Given the description of an element on the screen output the (x, y) to click on. 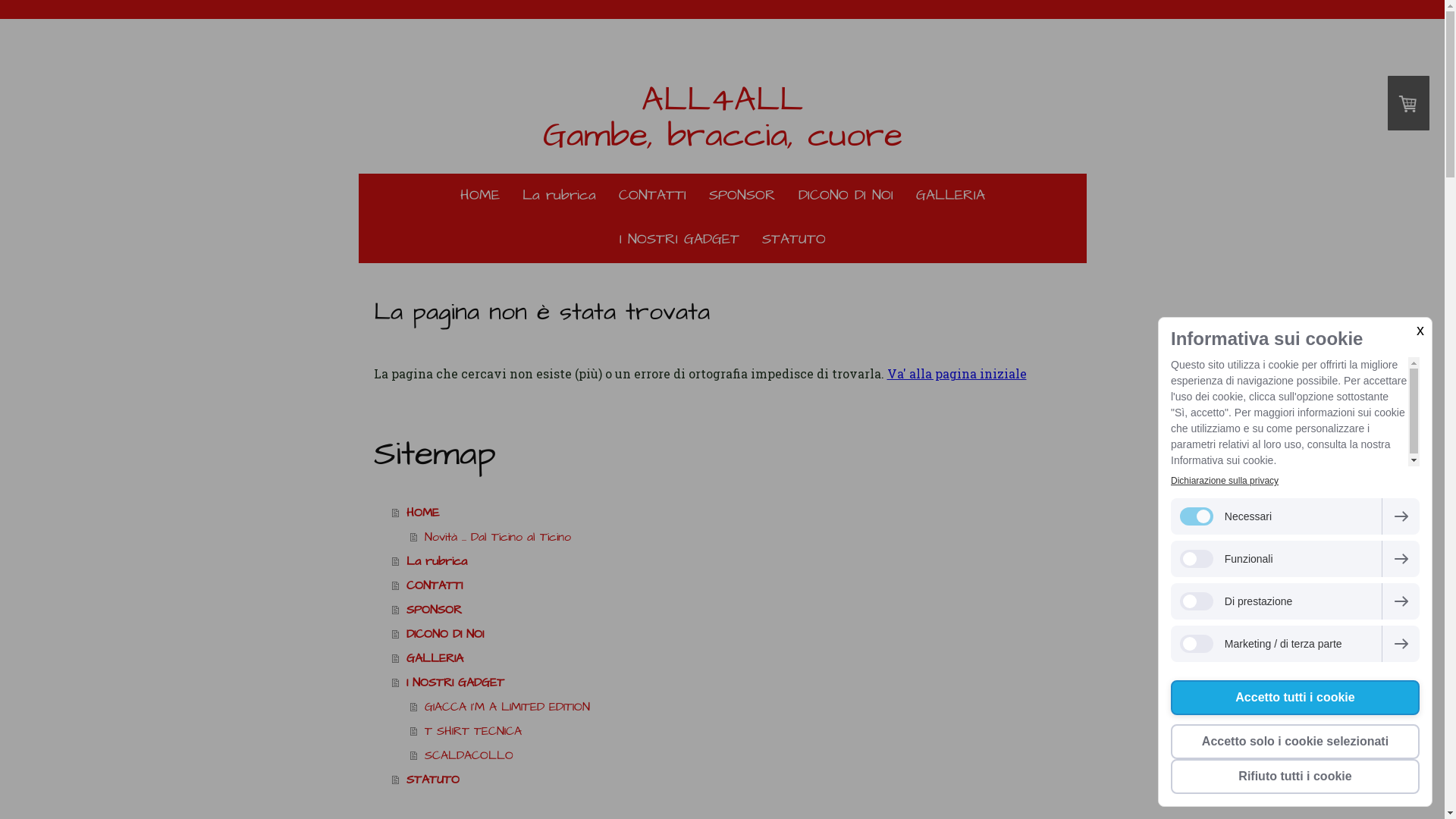
Accetto tutti i cookie Element type: text (1294, 697)
CONTATTI Element type: text (651, 194)
La rubrica Element type: text (559, 194)
Dichiarazione sulla privacy Element type: text (1224, 480)
HOME Element type: text (730, 512)
DICONO DI NOI Element type: text (845, 194)
I NOSTRI GADGET Element type: text (730, 682)
SPONSOR Element type: text (730, 609)
La rubrica Element type: text (730, 561)
STATUTO Element type: text (730, 779)
ALL4ALL
Gambe, braccia, cuore Element type: text (722, 118)
SPONSOR Element type: text (742, 194)
CONTATTI Element type: text (730, 585)
Accetto solo i cookie selezionati Element type: text (1294, 741)
DICONO DI NOI Element type: text (730, 633)
GALLERIA Element type: text (949, 194)
Rifiuto tutti i cookie Element type: text (1294, 776)
SCALDACOLLO Element type: text (739, 755)
Va' alla pagina iniziale Element type: text (956, 373)
STATUTO Element type: text (793, 239)
HOME Element type: text (479, 194)
I NOSTRI GADGET Element type: text (679, 239)
GIACCA I'M A LIMITED EDITION Element type: text (739, 706)
GALLERIA Element type: text (730, 658)
T SHIRT TECNICA Element type: text (739, 730)
